Given the description of an element on the screen output the (x, y) to click on. 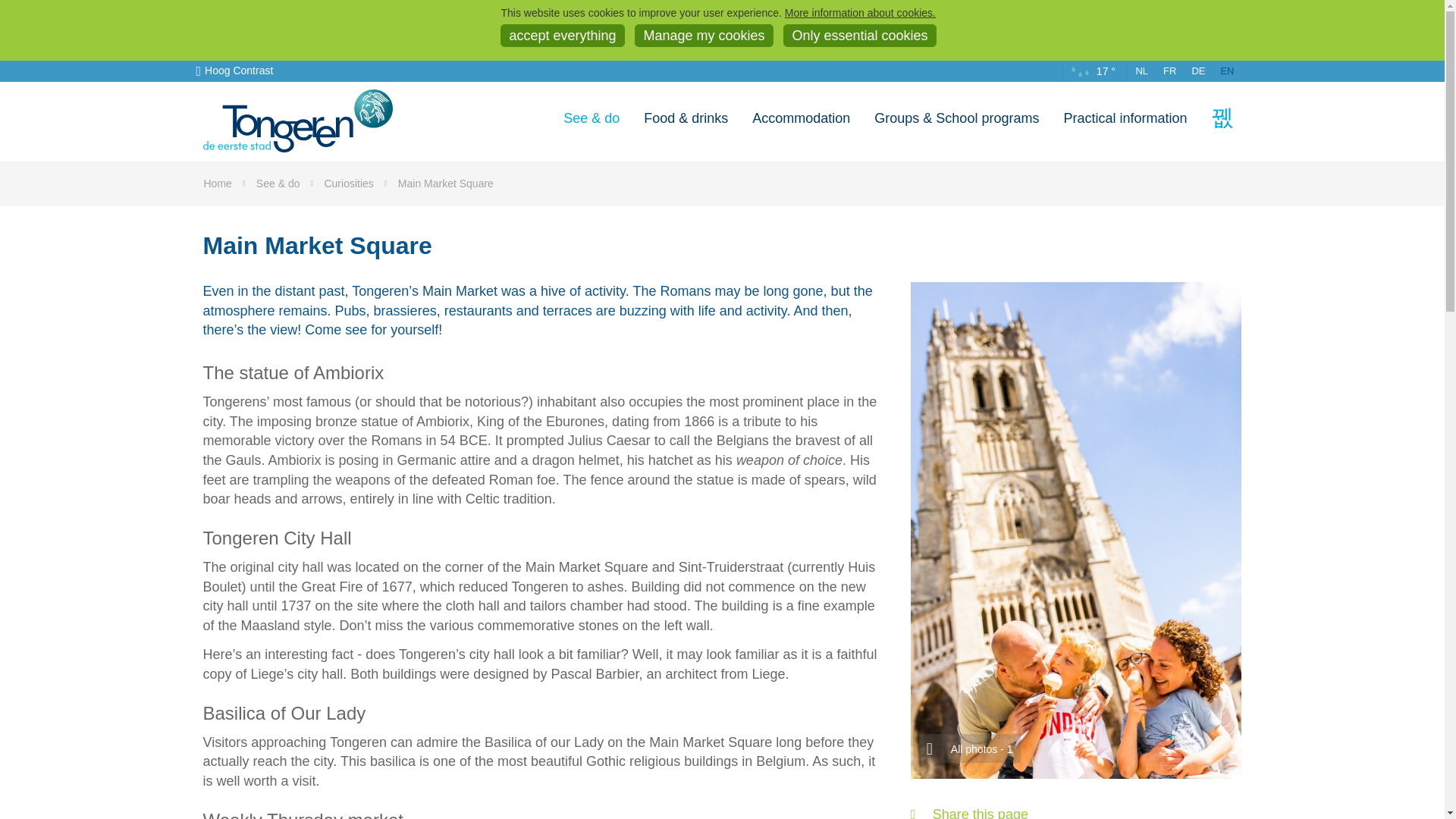
DE (1197, 70)
accept everything (562, 35)
NL (1141, 70)
Manage my cookies (703, 35)
FR (1169, 70)
Only essential cookies (859, 35)
Visit Tongeren (298, 121)
Accommodation (800, 118)
Hoog Contrast (234, 70)
More information about cookies. (860, 11)
